Given the description of an element on the screen output the (x, y) to click on. 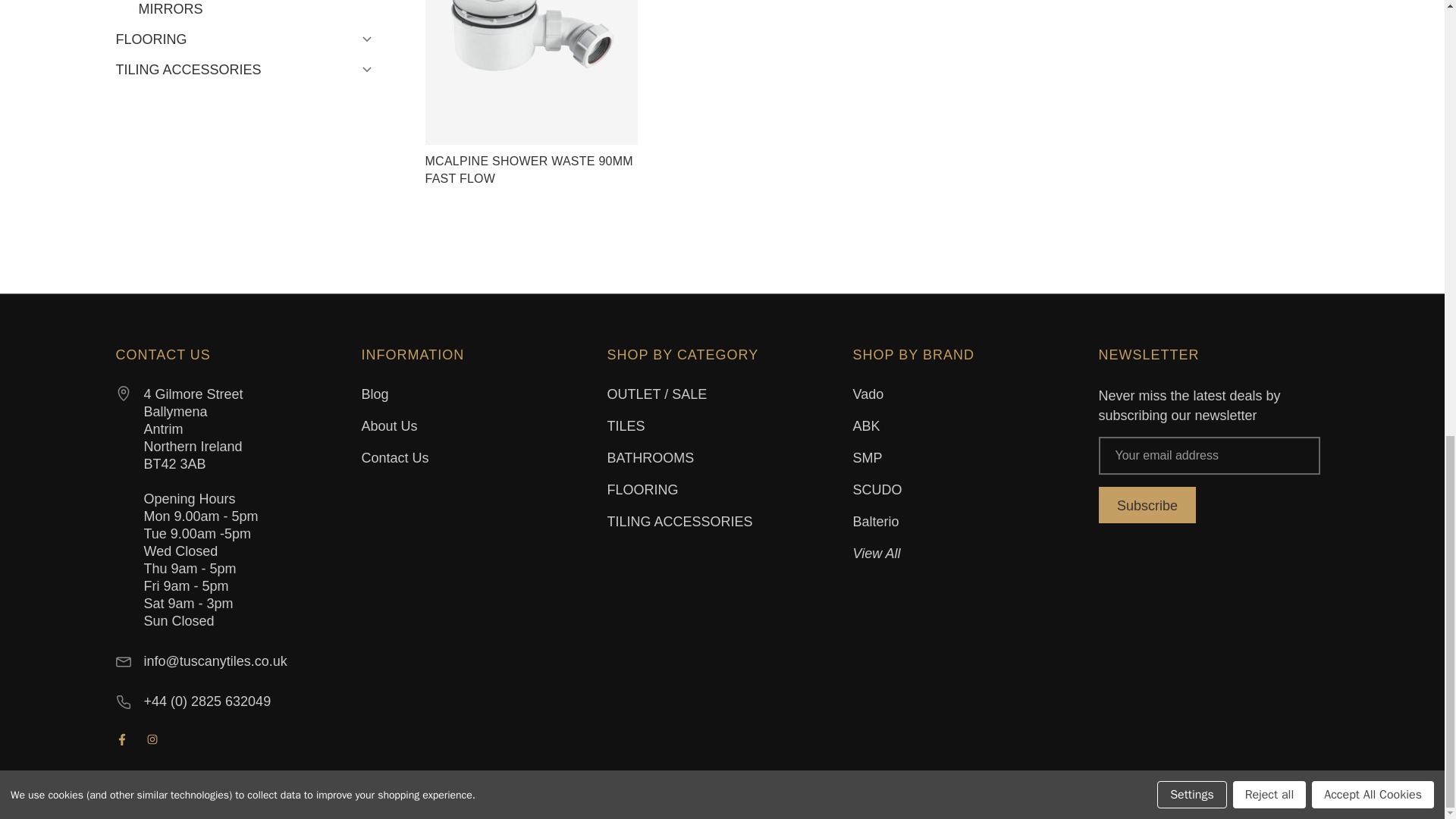
Instagram (152, 738)
Subscribe (1146, 504)
Facebook (121, 739)
